Given the description of an element on the screen output the (x, y) to click on. 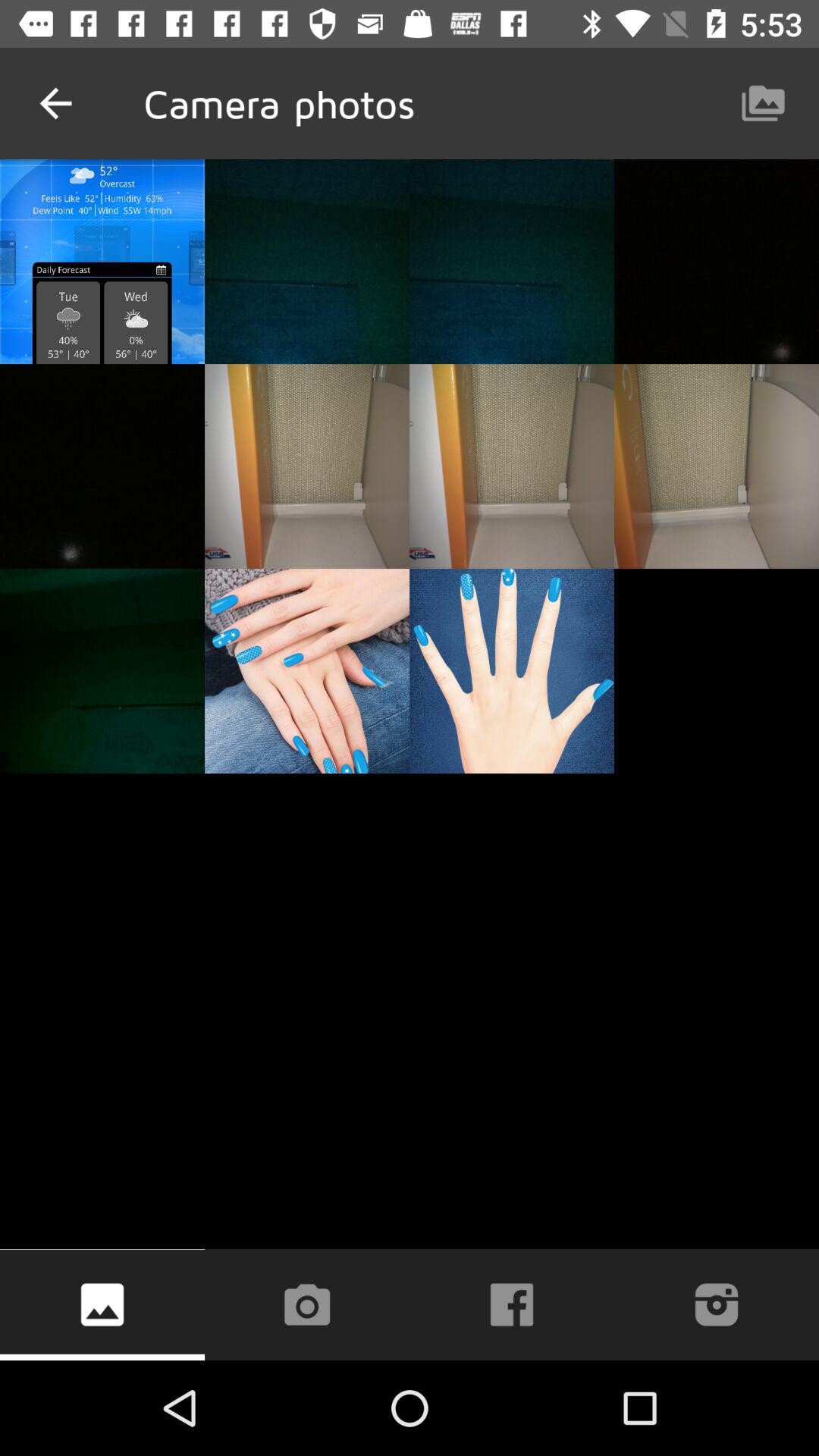
click item to the left of the camera photos item (55, 103)
